Given the description of an element on the screen output the (x, y) to click on. 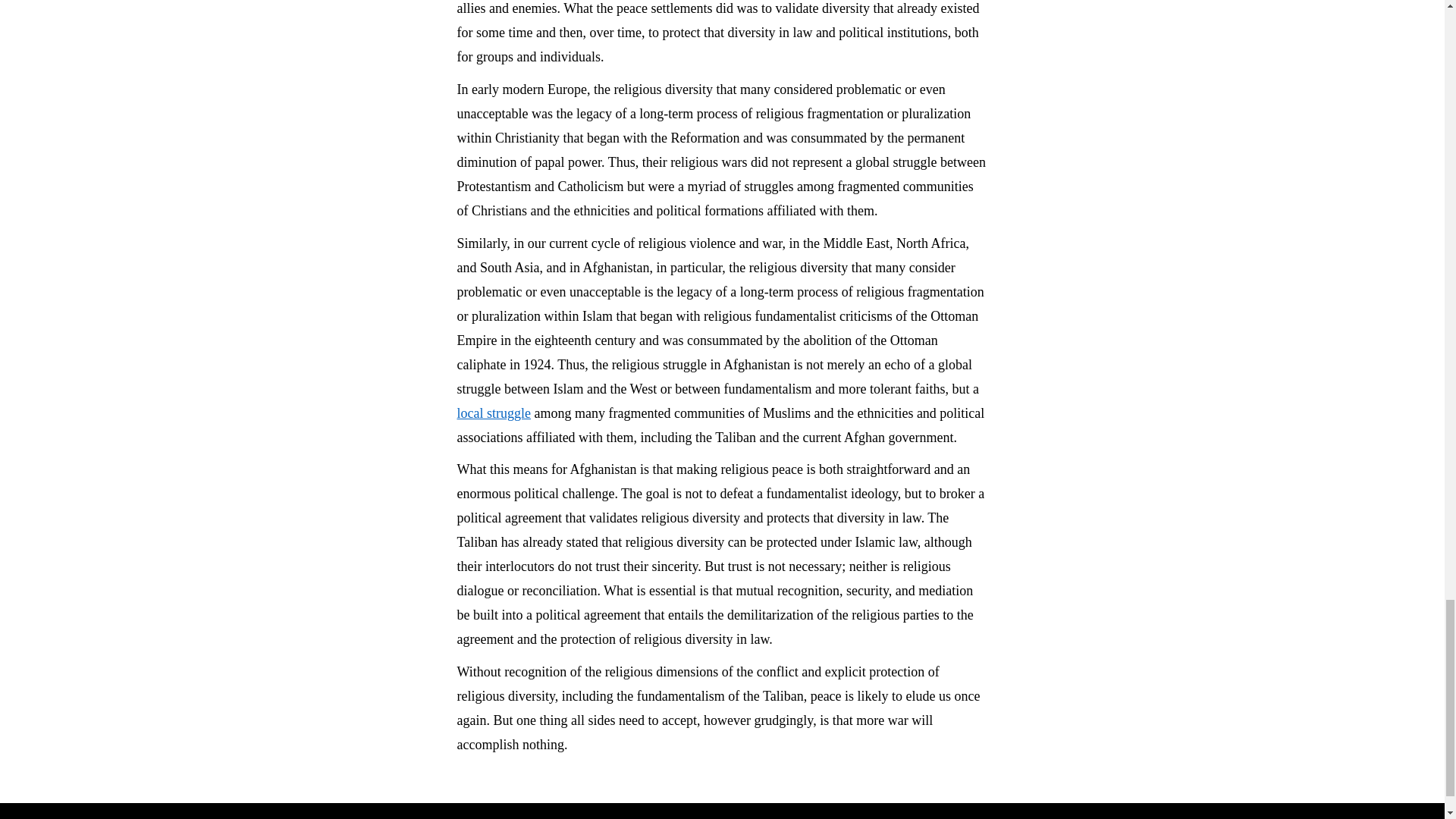
local struggle (493, 412)
